Given the description of an element on the screen output the (x, y) to click on. 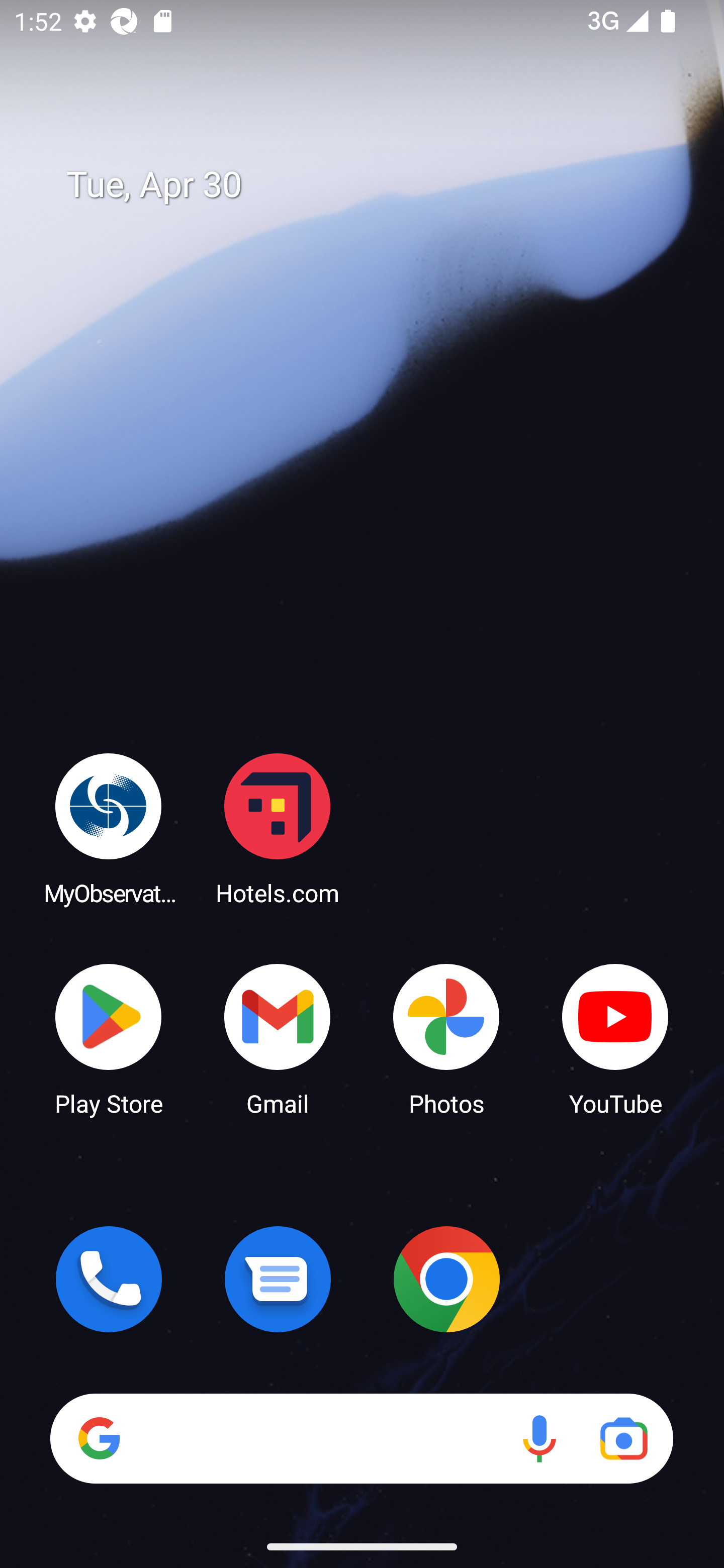
Tue, Apr 30 (375, 184)
MyObservatory (108, 828)
Hotels.com (277, 828)
Play Store (108, 1038)
Gmail (277, 1038)
Photos (445, 1038)
YouTube (615, 1038)
Phone (108, 1279)
Messages (277, 1279)
Chrome (446, 1279)
Voice search (539, 1438)
Google Lens (623, 1438)
